Given the description of an element on the screen output the (x, y) to click on. 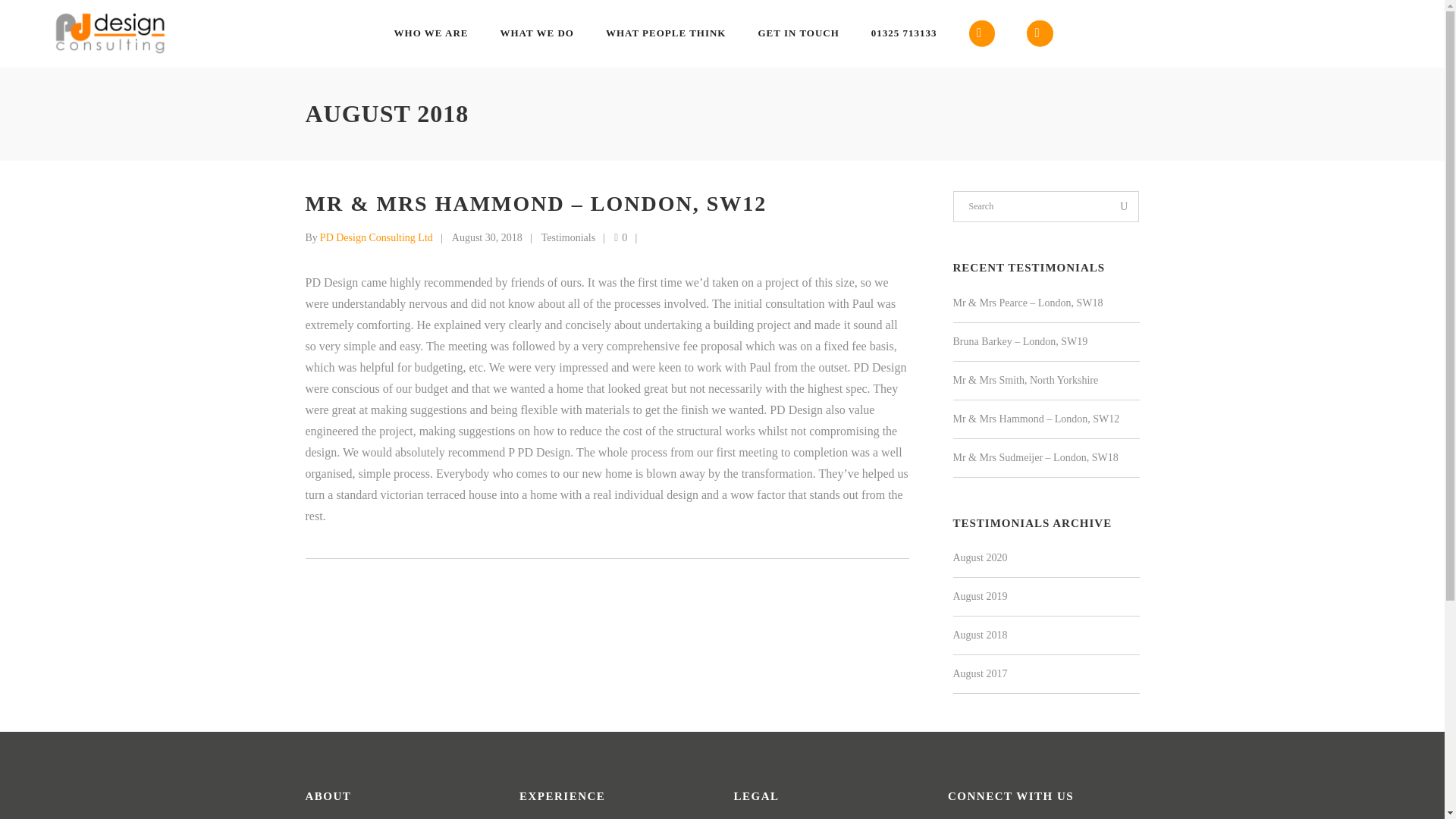
WHAT PEOPLE THINK (665, 33)
August 30, 2018 (486, 237)
U (1123, 205)
WHAT WE DO (536, 33)
August 2017 (979, 673)
August 2018 (979, 634)
0 (620, 237)
PD Design Consulting Ltd (376, 237)
Like this (620, 237)
WHO WE ARE (431, 33)
August 2020 (979, 557)
Click to call (904, 33)
GET IN TOUCH (797, 33)
August 2019 (979, 595)
Testimonials (568, 237)
